Given the description of an element on the screen output the (x, y) to click on. 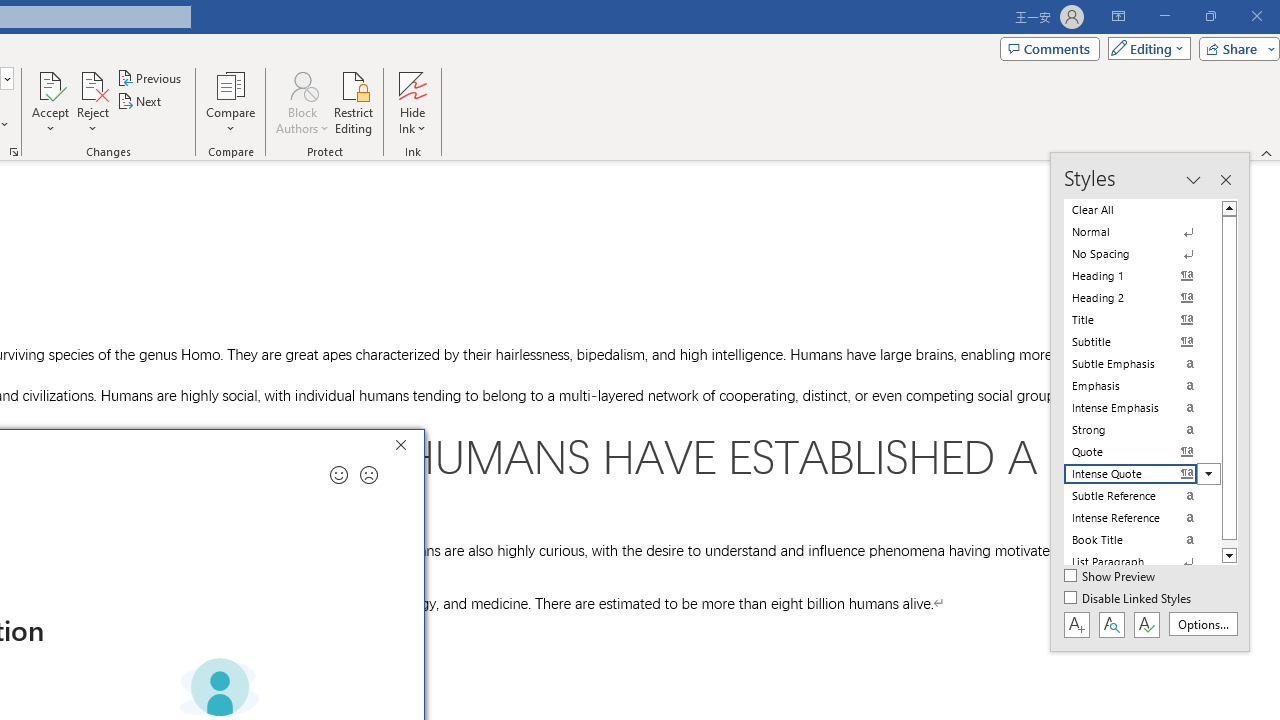
Hide Ink (412, 84)
Disable Linked Styles (1129, 599)
Next (140, 101)
Reject (92, 102)
Send a smile for feedback (338, 475)
List Paragraph (1142, 561)
No Spacing (1142, 253)
